Given the description of an element on the screen output the (x, y) to click on. 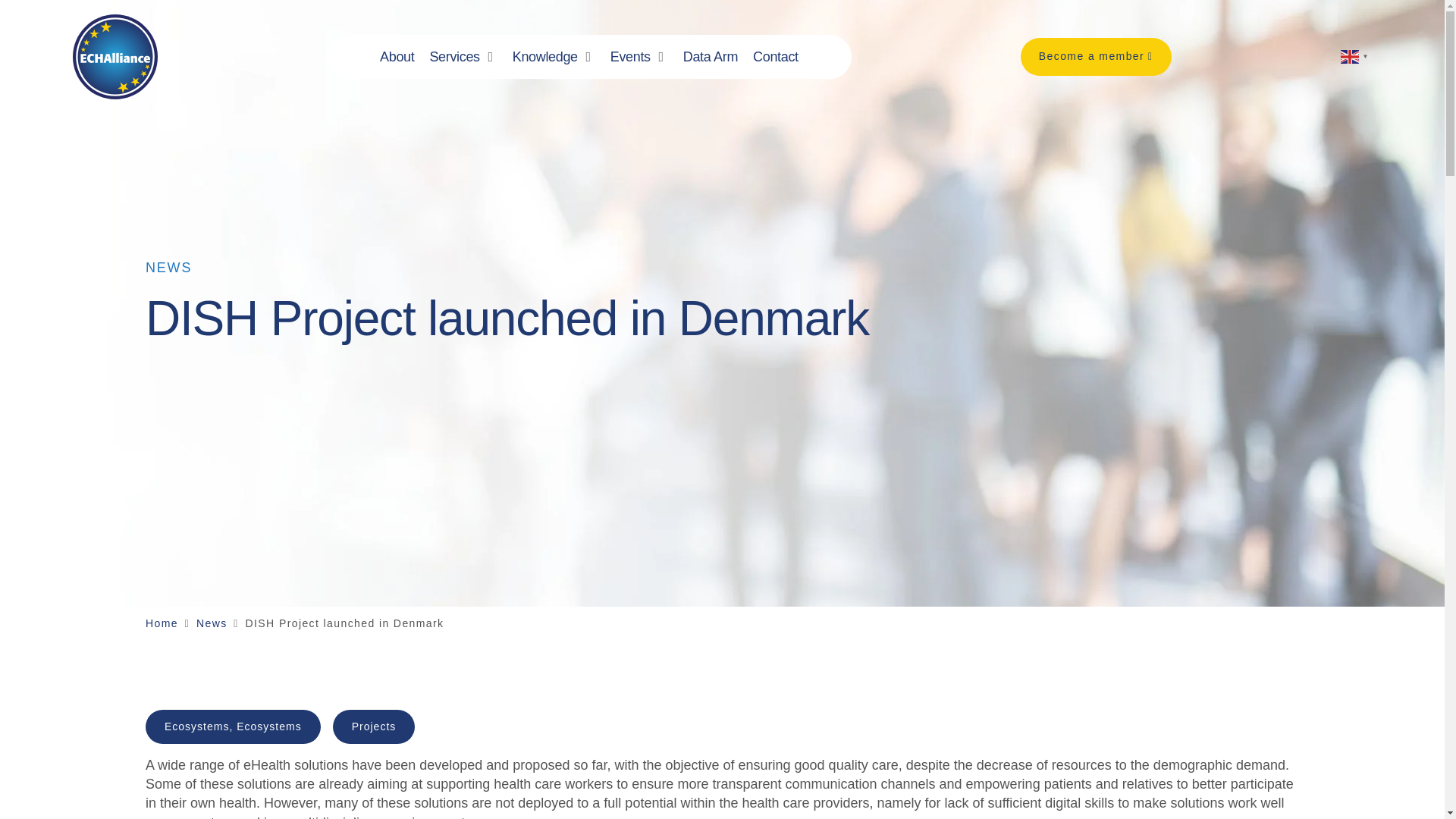
News (211, 623)
About (396, 56)
Events (630, 56)
Home (161, 623)
Knowledge (545, 56)
Services (454, 56)
